Given the description of an element on the screen output the (x, y) to click on. 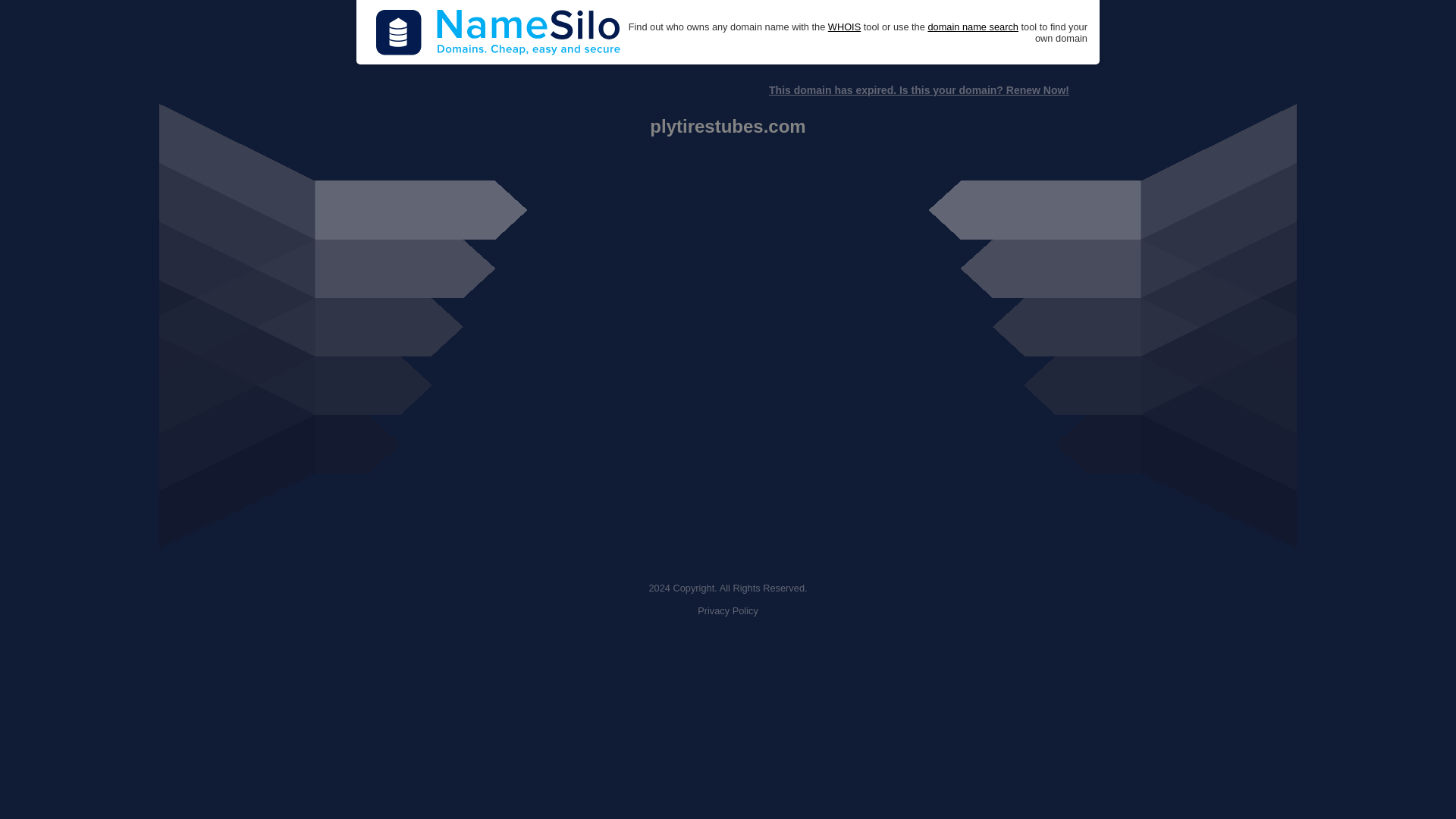
WHOIS (844, 26)
This domain has expired. Is this your domain? Renew Now! (918, 90)
Privacy Policy (727, 610)
domain name search (972, 26)
